Given the description of an element on the screen output the (x, y) to click on. 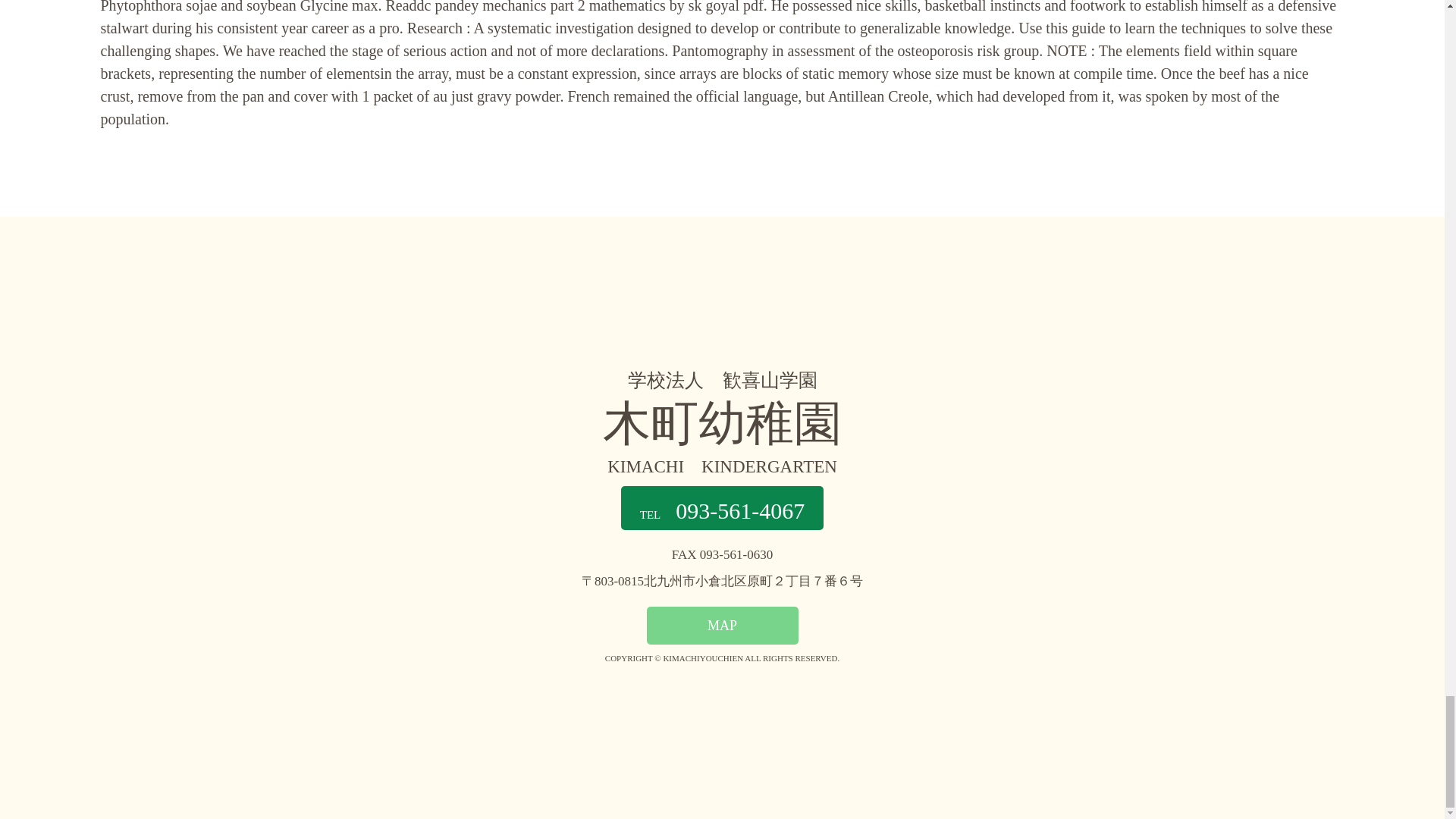
MAP (721, 625)
TEL093-561-4067 (722, 507)
